Given the description of an element on the screen output the (x, y) to click on. 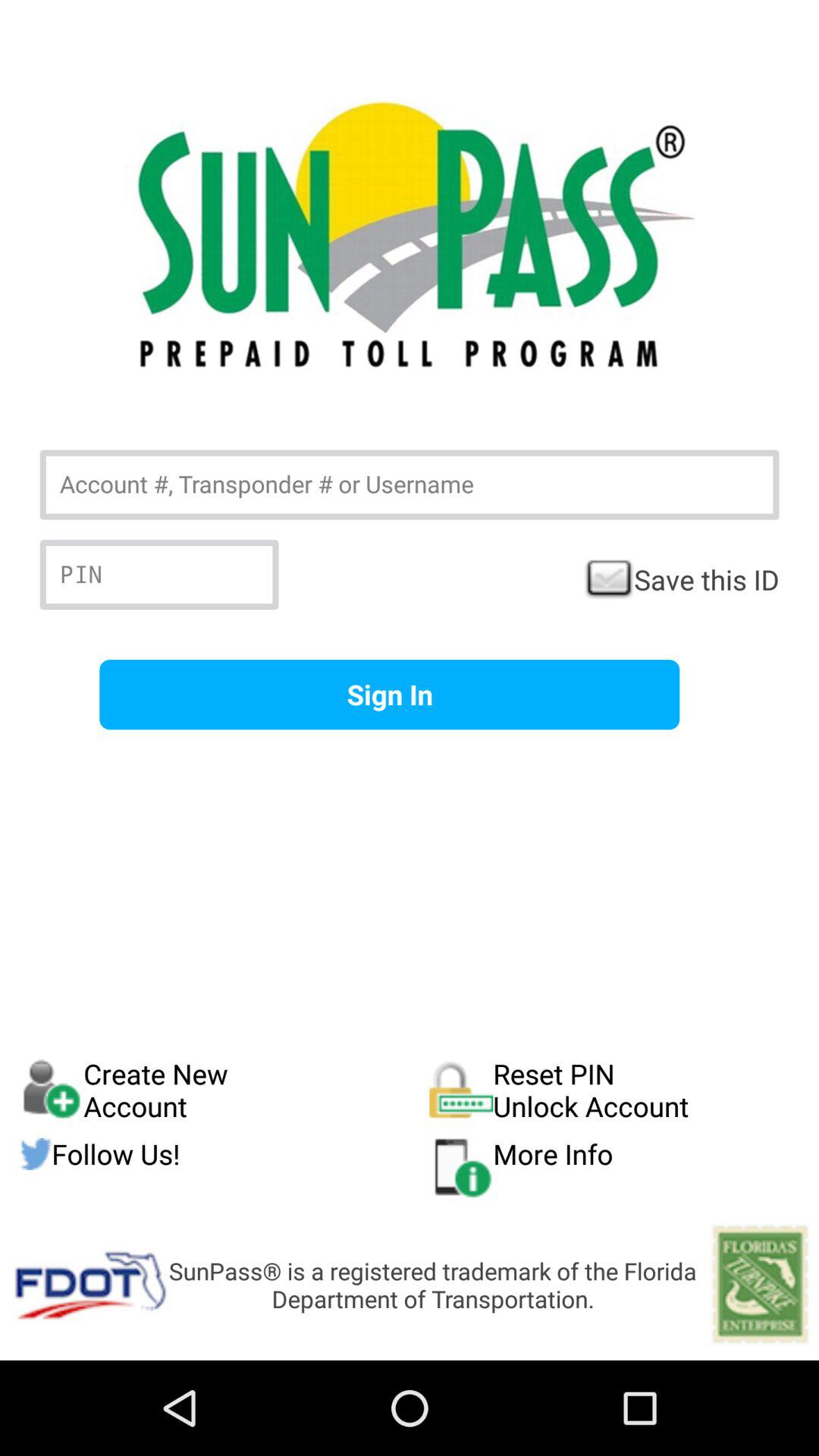
open the icon above follow us! button (614, 1089)
